Given the description of an element on the screen output the (x, y) to click on. 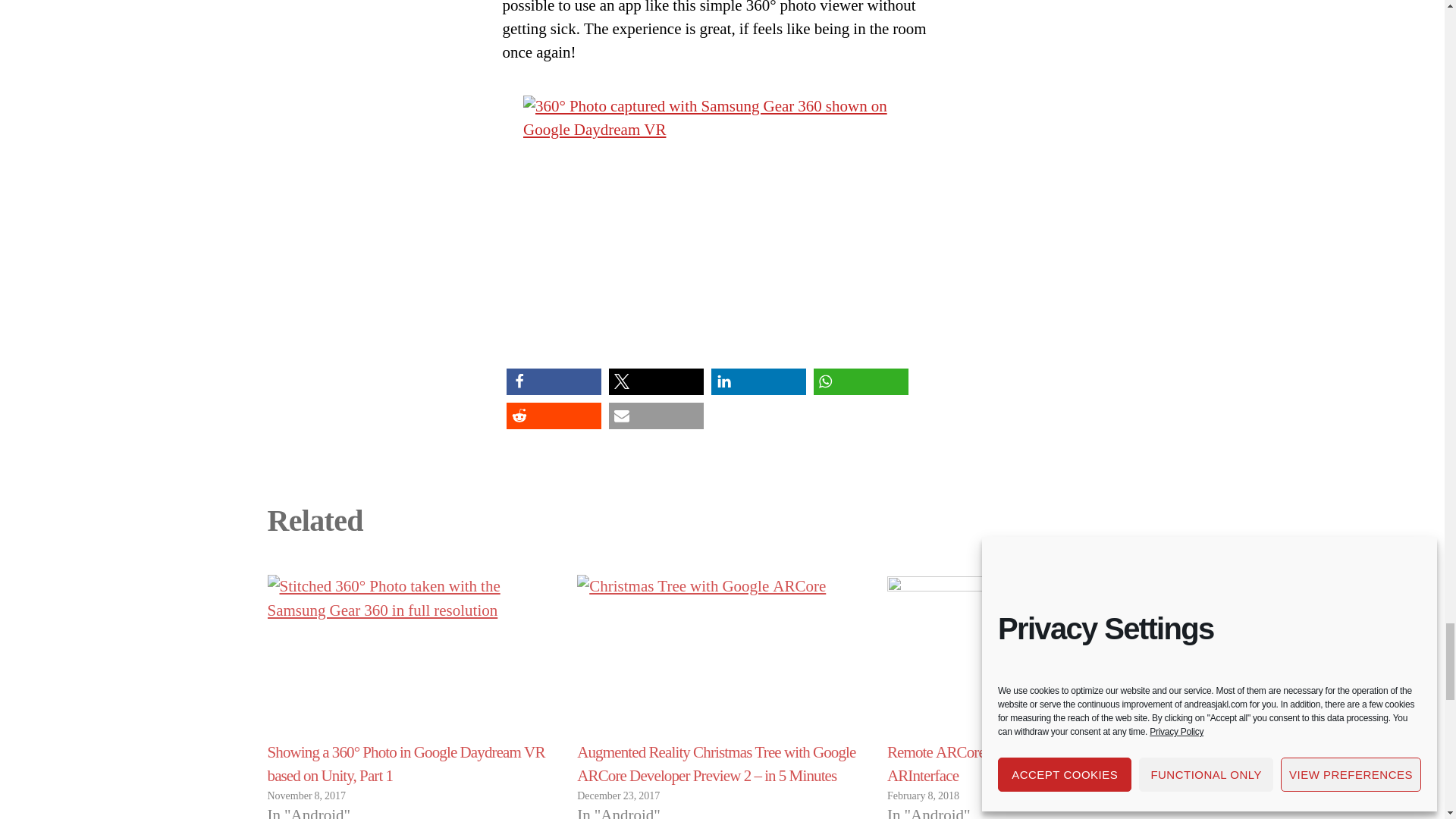
Share on Facebook (553, 381)
Share on LinkedIn (758, 381)
Share on X (655, 381)
Share on Whatsapp (859, 381)
